Given the description of an element on the screen output the (x, y) to click on. 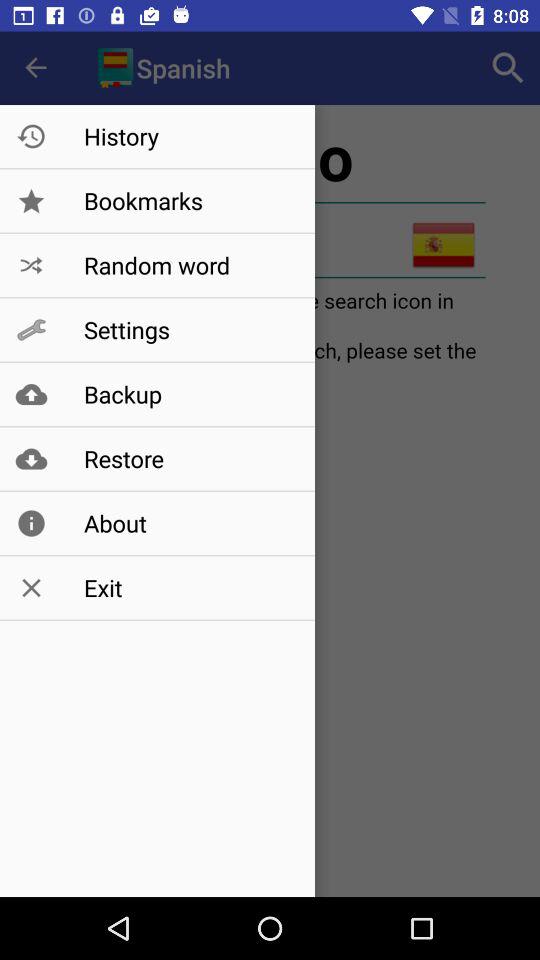
click settings icon (188, 329)
